Given the description of an element on the screen output the (x, y) to click on. 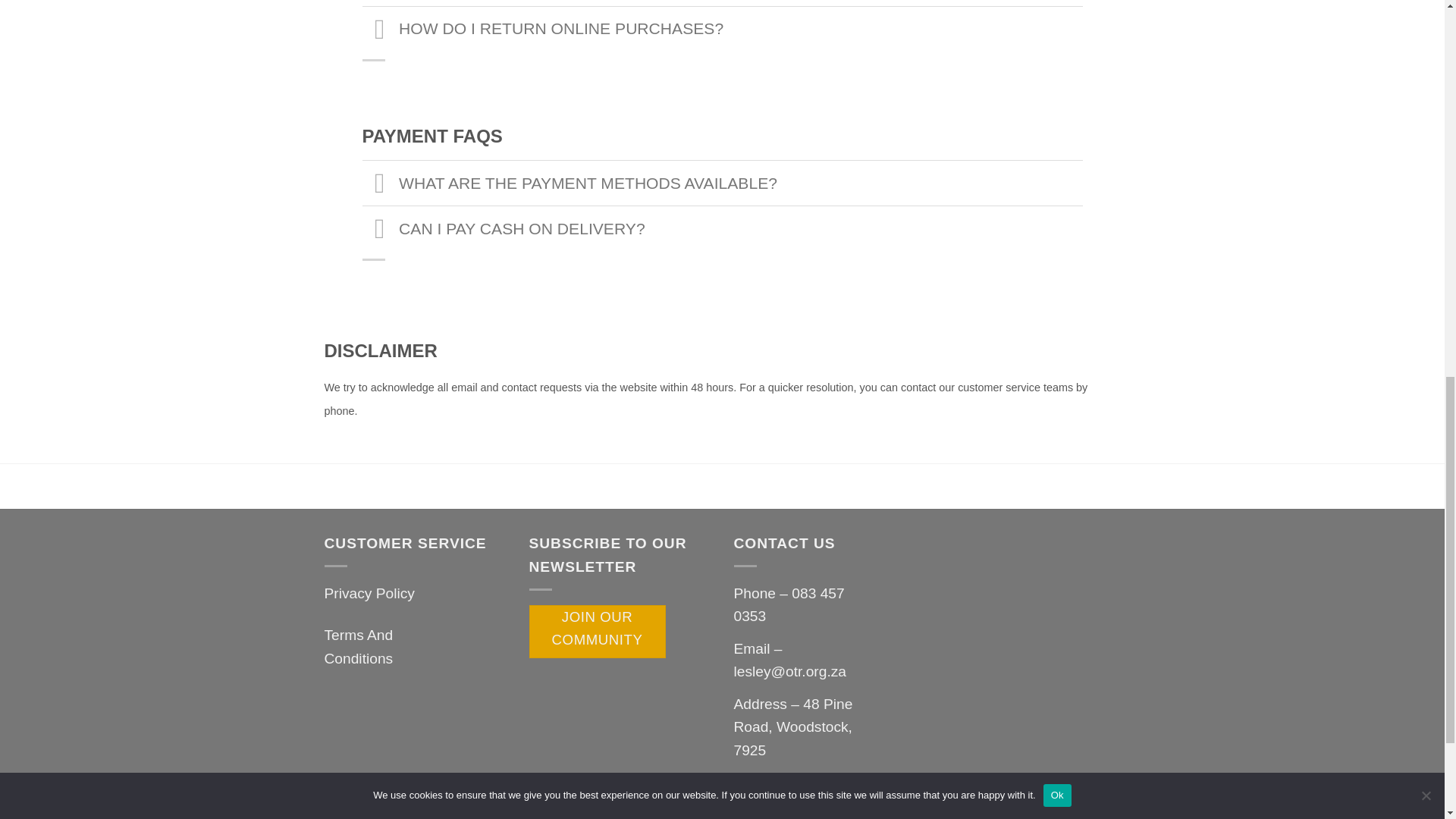
HOW DO I RETURN ONLINE PURCHASES? (722, 28)
WHAT ARE THE PAYMENT METHODS AVAILABLE? (722, 182)
